Given the description of an element on the screen output the (x, y) to click on. 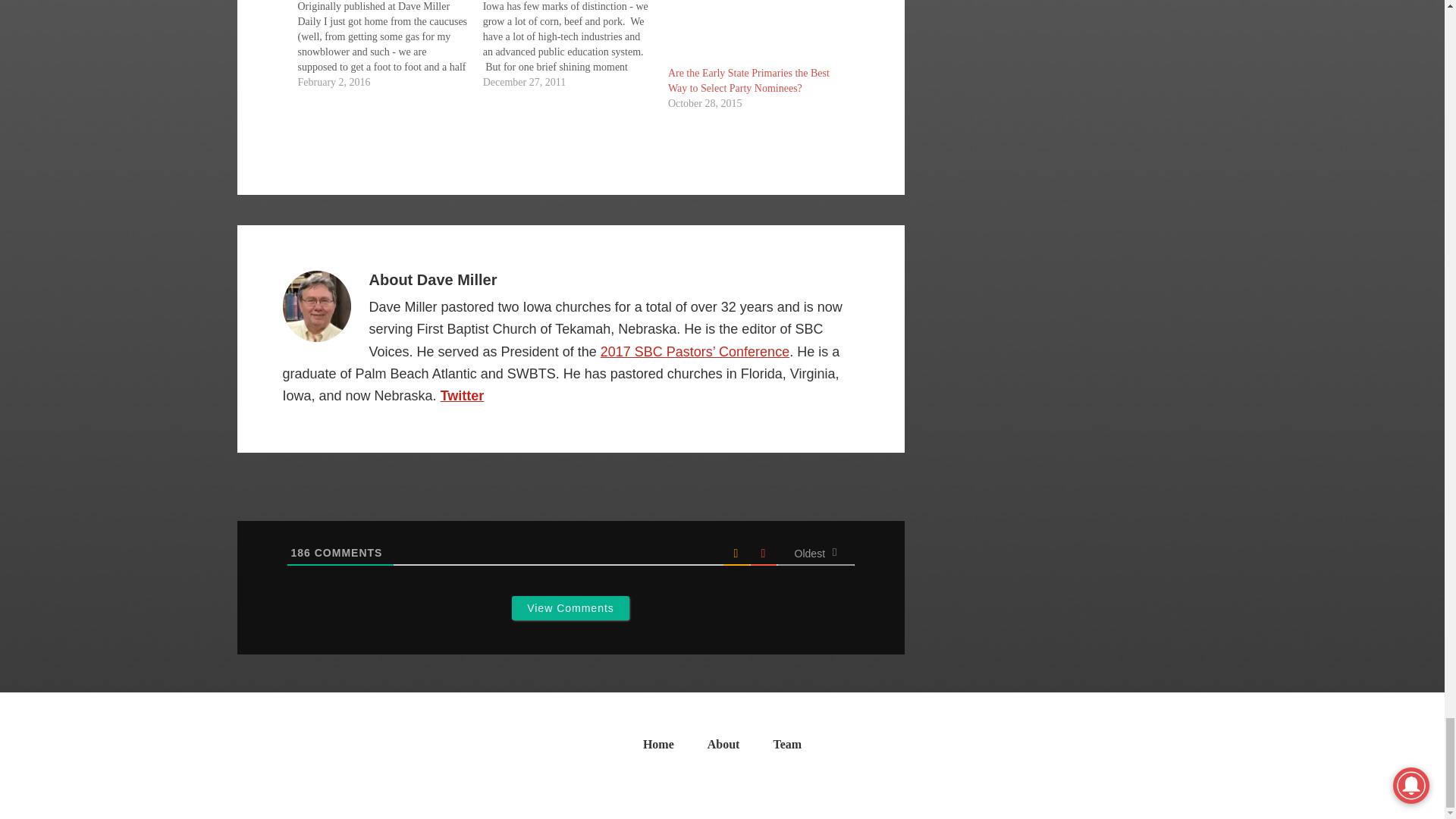
Twitter (462, 395)
View Comments (570, 607)
186 (301, 552)
Initial Thoughts on a Night at the Iowa Caucuses (389, 45)
